Given the description of an element on the screen output the (x, y) to click on. 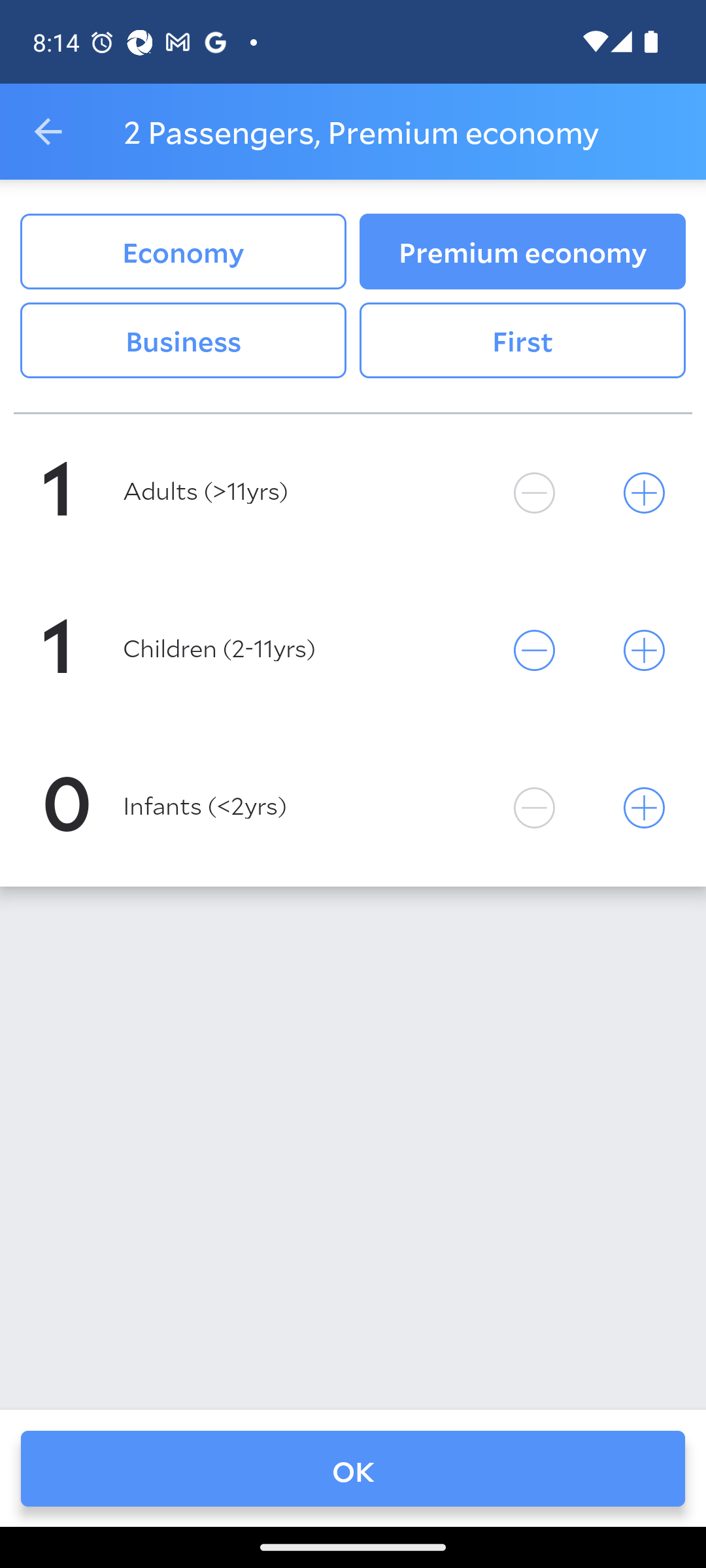
Navigate up (48, 131)
Economy (183, 251)
Premium economy (522, 251)
Business (183, 339)
First (522, 339)
OK (352, 1468)
